Given the description of an element on the screen output the (x, y) to click on. 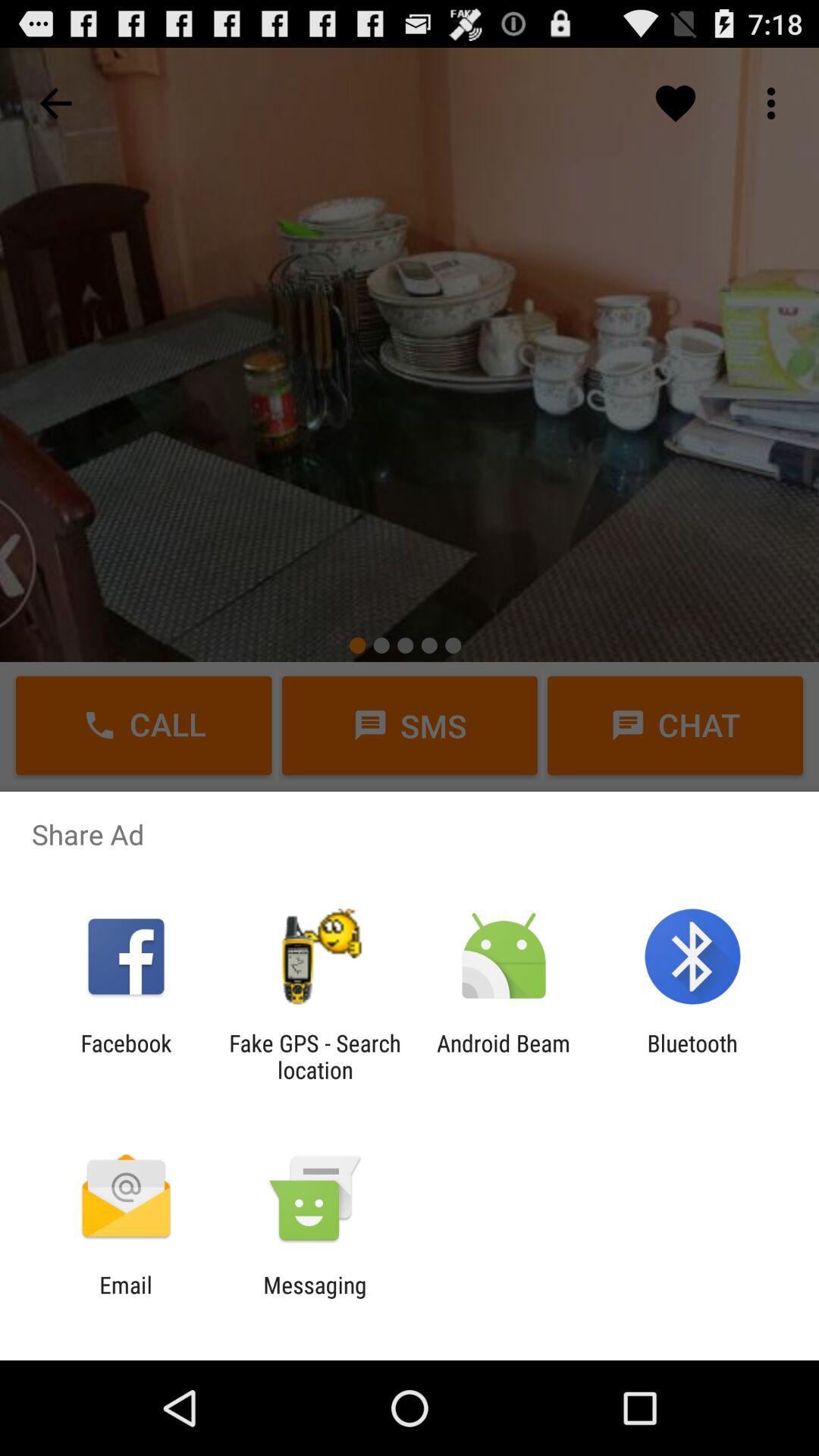
tap the email (125, 1298)
